Given the description of an element on the screen output the (x, y) to click on. 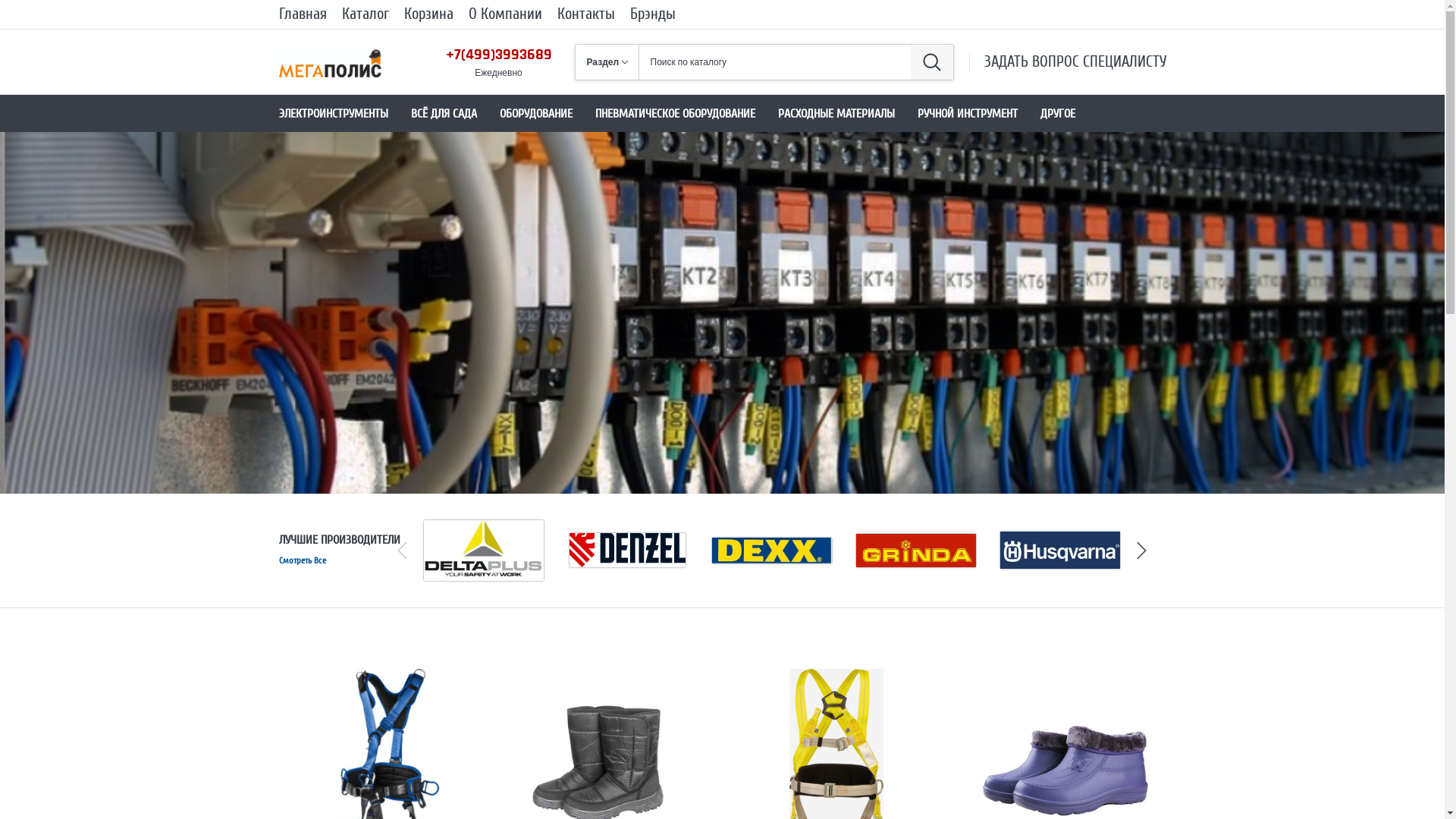
banner-category-3.jpg Element type: hover (722, 311)
+7(499)3993689 Element type: text (498, 54)
sisea.search Element type: text (931, 61)
